Given the description of an element on the screen output the (x, y) to click on. 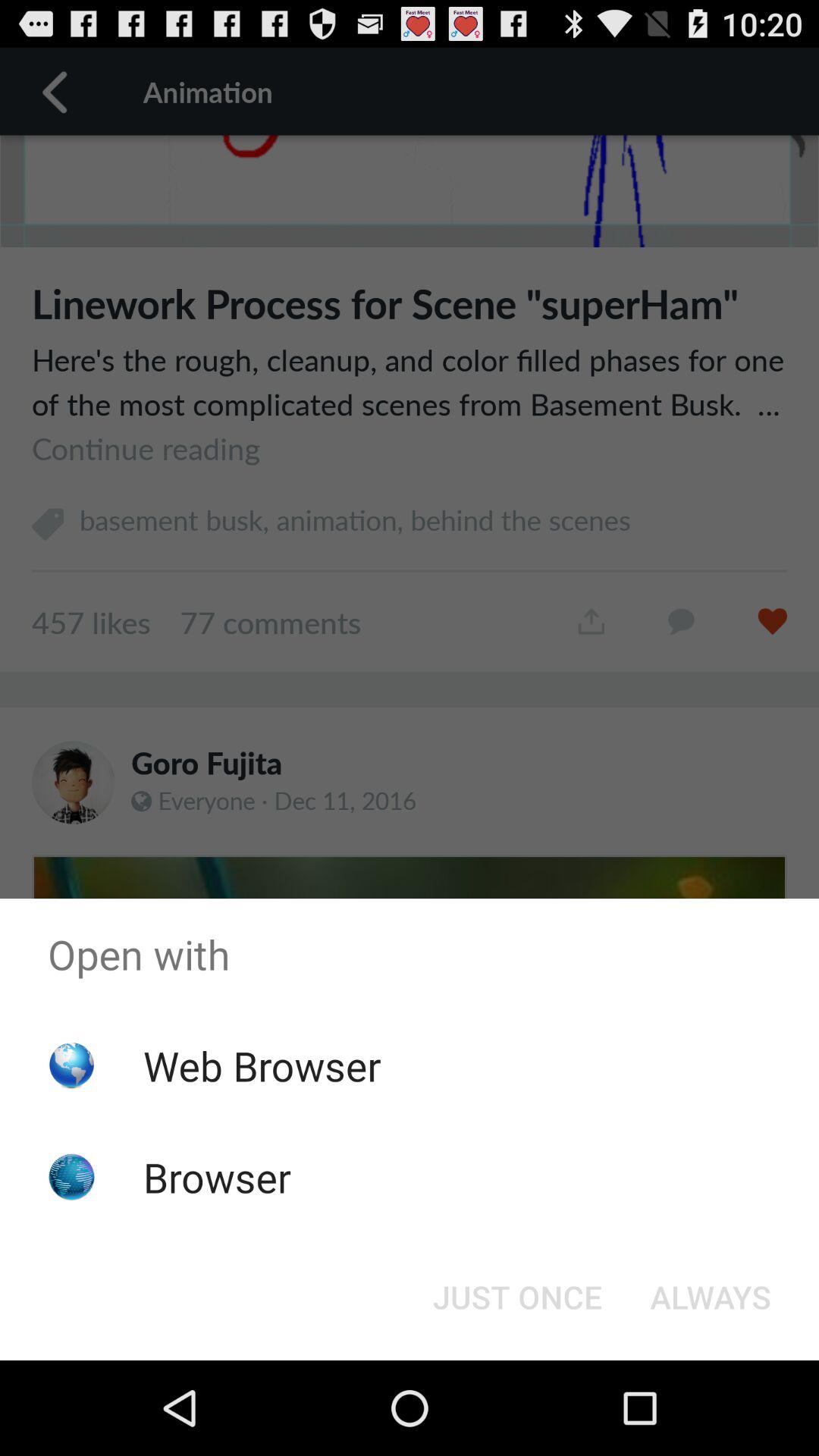
open the item at the bottom right corner (710, 1296)
